Given the description of an element on the screen output the (x, y) to click on. 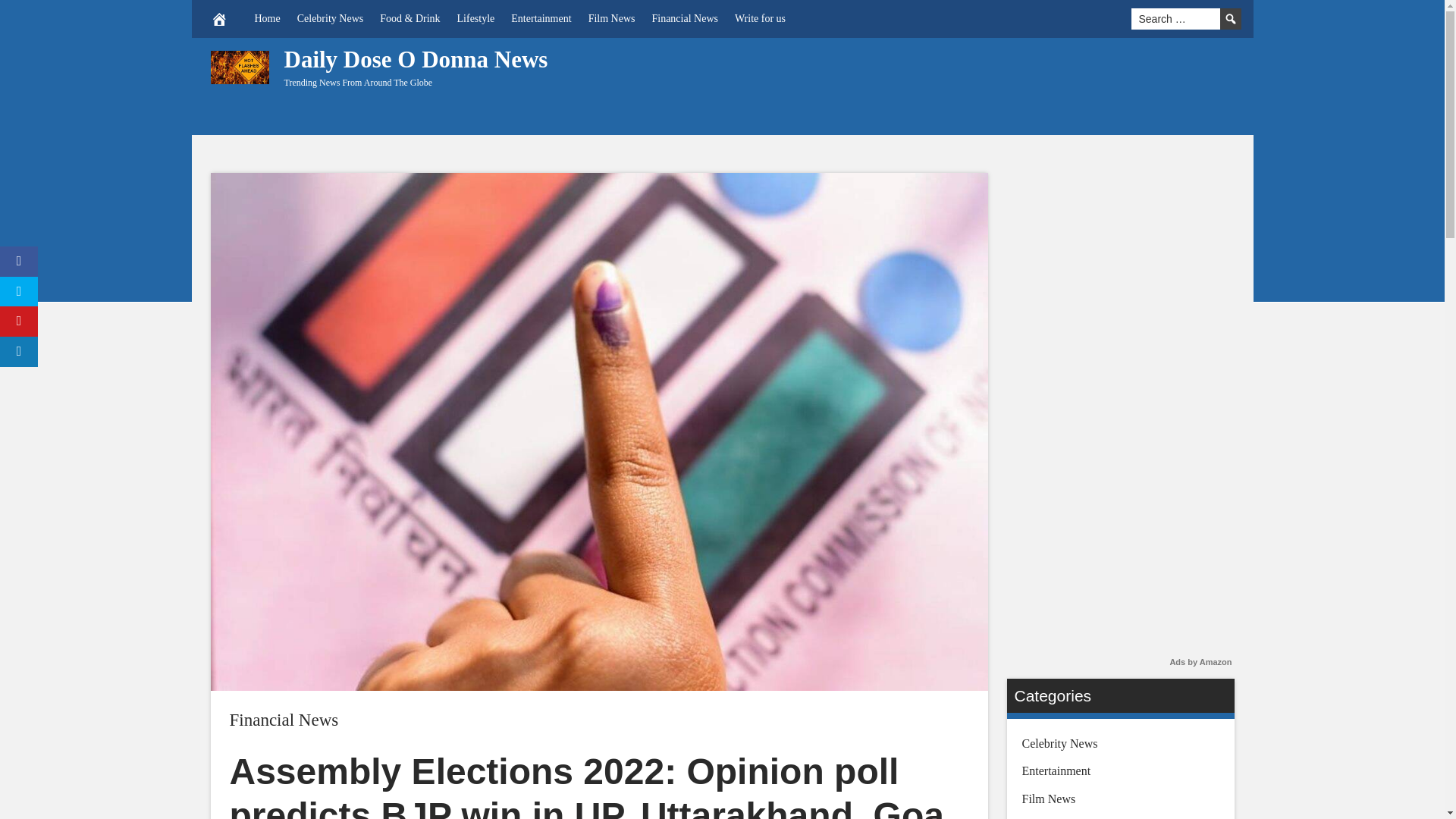
Film News (611, 18)
Financial News (282, 719)
Financial News (282, 719)
Entertainment (540, 18)
Celebrity News (329, 18)
Financial News (684, 18)
Lifestyle (475, 18)
Daily Dose O Donna News (415, 58)
Home (267, 18)
Write for us (759, 18)
